Given the description of an element on the screen output the (x, y) to click on. 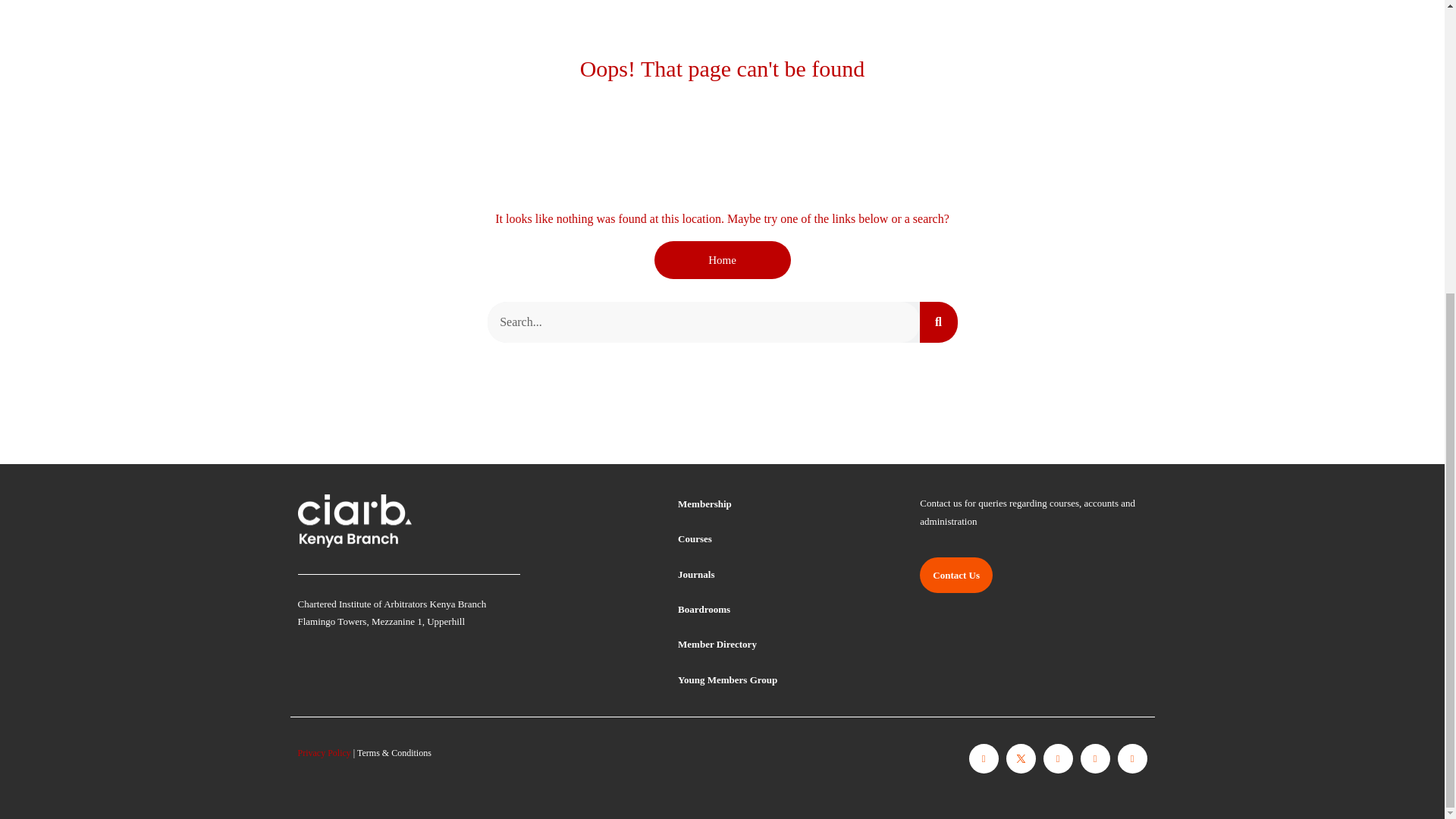
Journals (696, 574)
Young Members Group (727, 680)
Courses (694, 538)
Contact Us (956, 575)
Boardrooms (704, 609)
Member Directory (717, 644)
Home (721, 259)
Membership (705, 504)
Privacy Policy (323, 752)
